Given the description of an element on the screen output the (x, y) to click on. 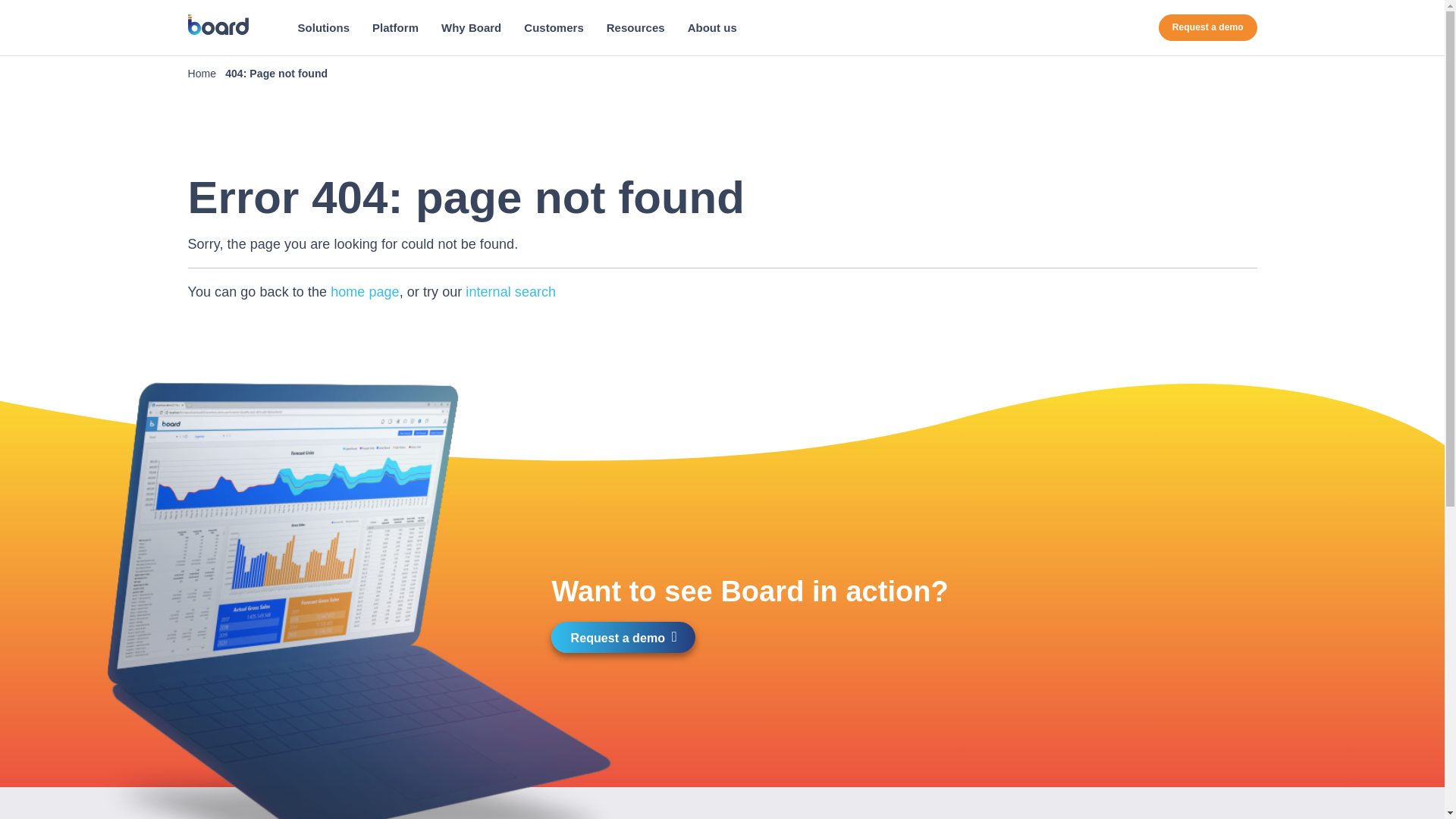
Platform (395, 27)
Resources (636, 27)
Why Board (470, 27)
Board International (217, 24)
Customers (553, 27)
Solutions (323, 27)
